Given the description of an element on the screen output the (x, y) to click on. 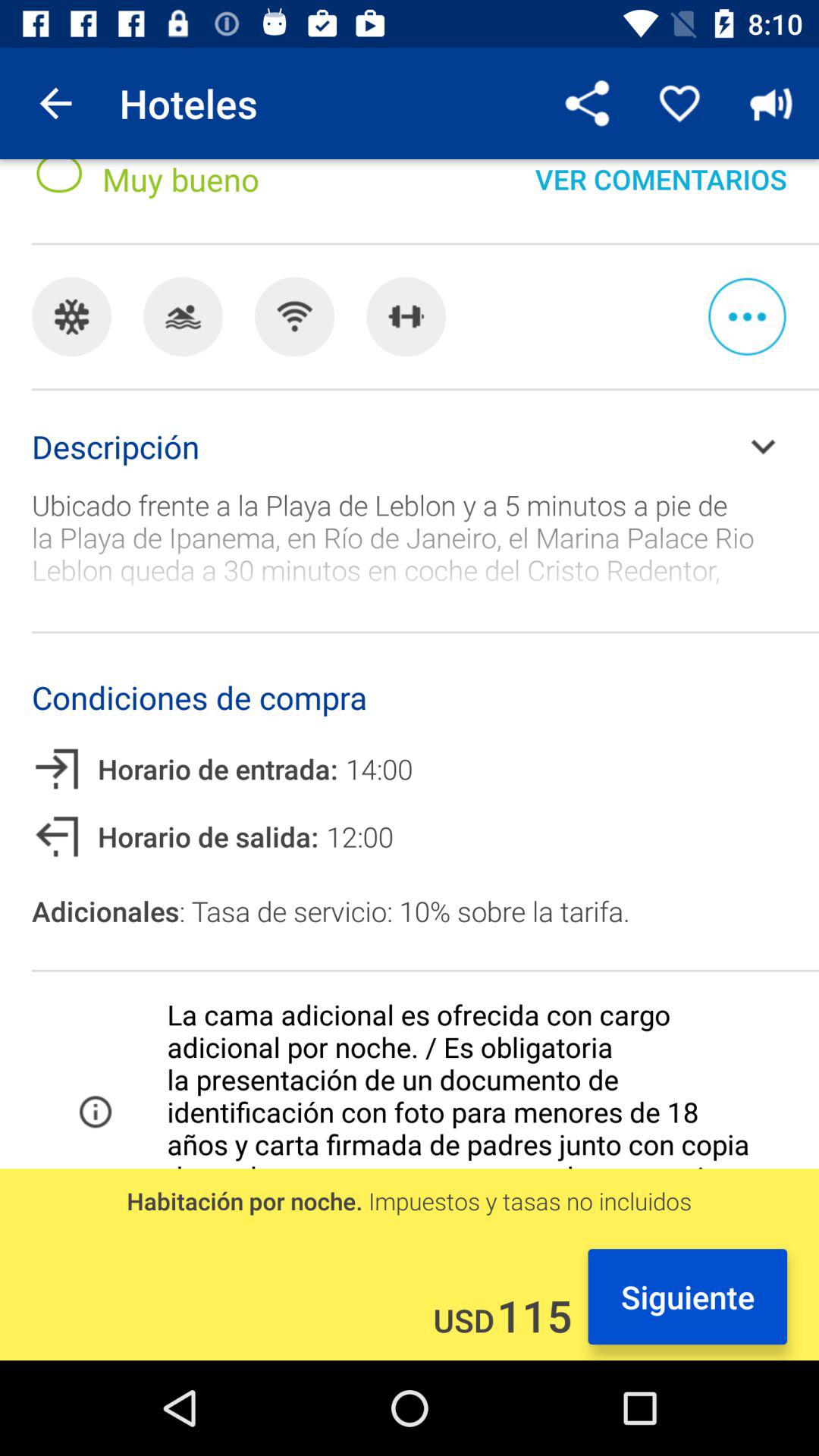
turn on ver comentarios item (661, 192)
